Given the description of an element on the screen output the (x, y) to click on. 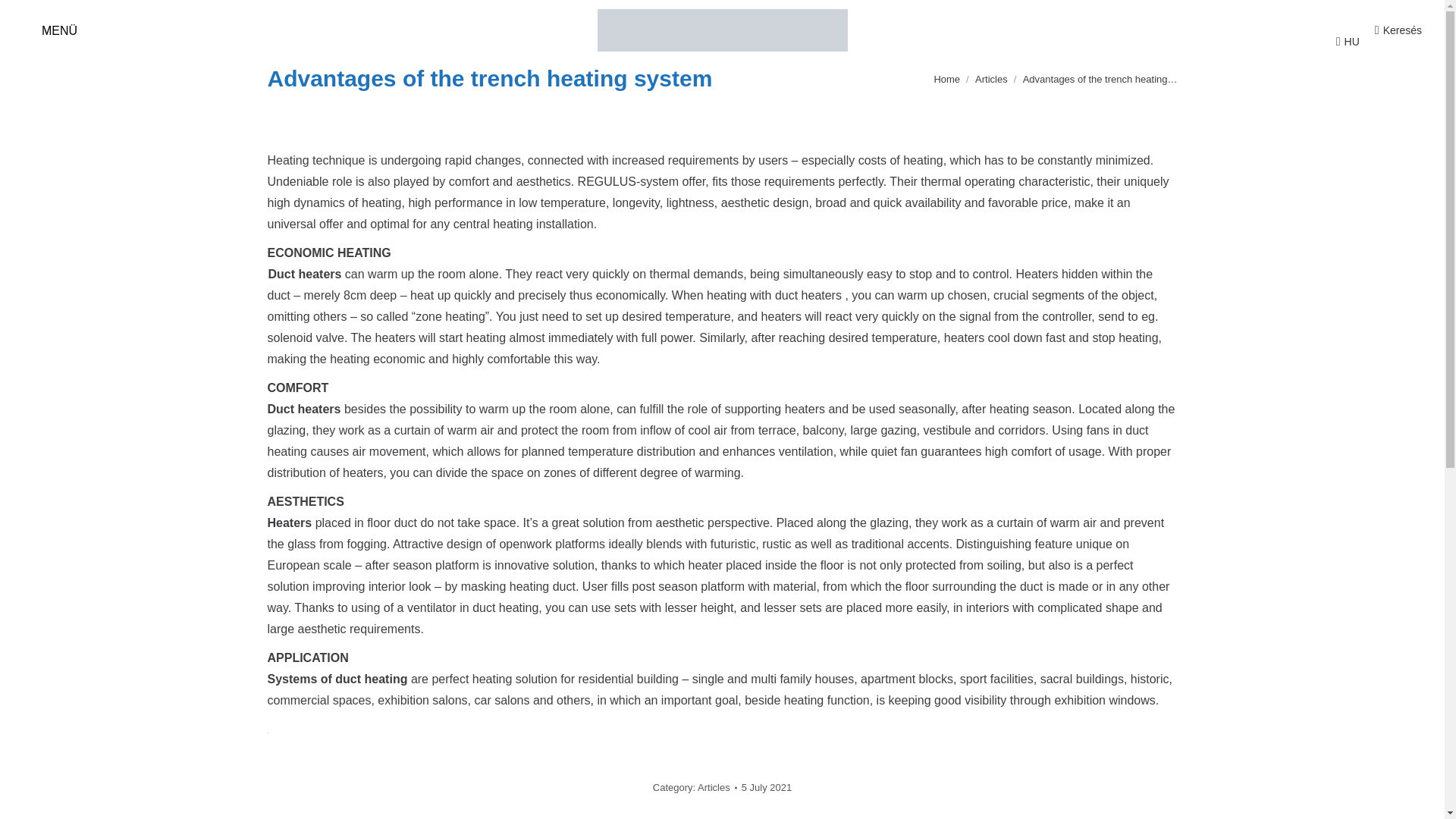
Go! (24, 16)
Articles (713, 787)
Home (946, 78)
Articles (991, 78)
14:59 (766, 787)
Home (946, 78)
Articles (991, 78)
5 July 2021 (766, 787)
